Given the description of an element on the screen output the (x, y) to click on. 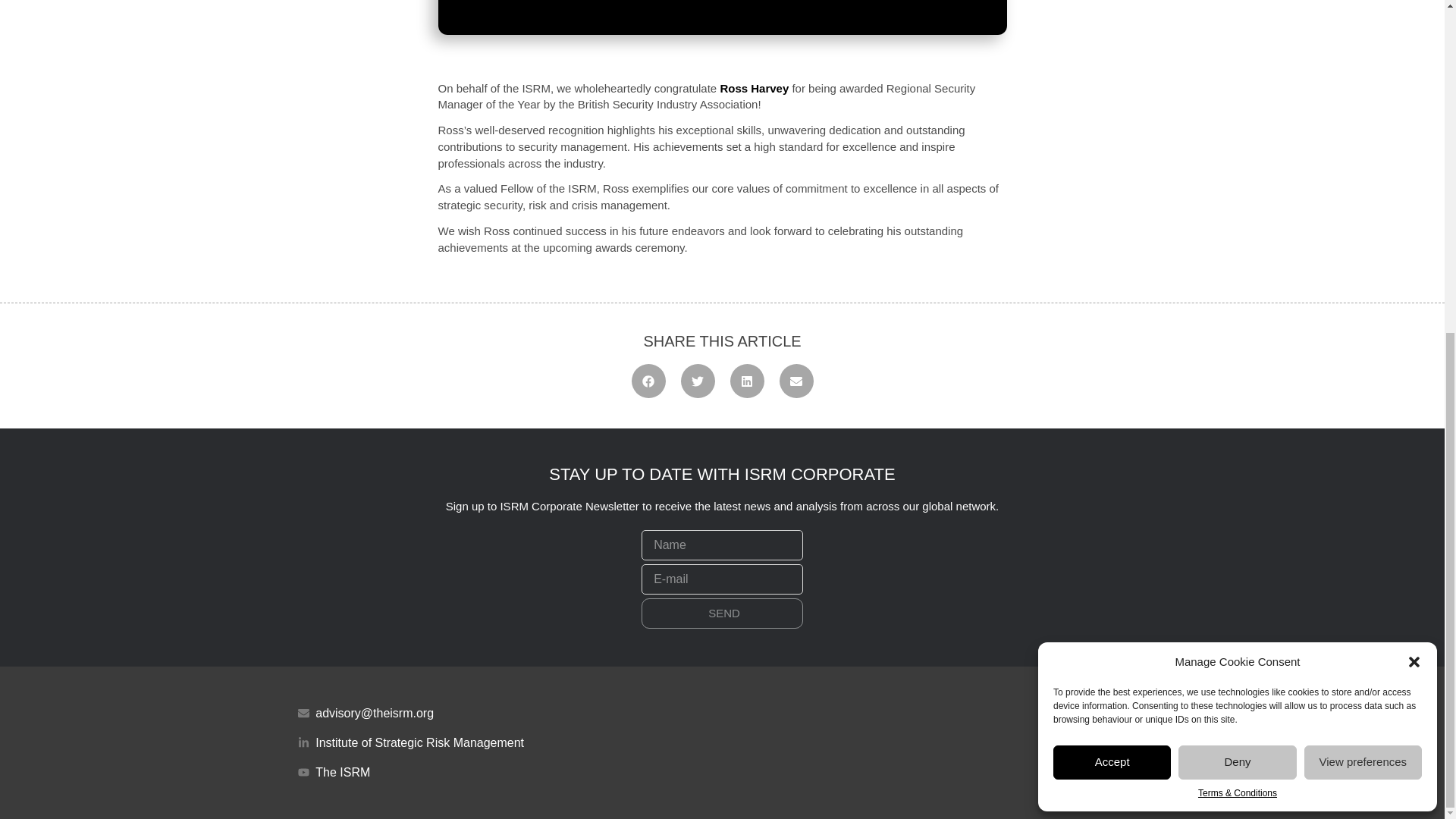
Institute of Strategic Risk Management (505, 742)
SEND (722, 613)
The ISRM (505, 772)
Accept (1111, 207)
Deny (1236, 207)
Ross Harvey (754, 88)
View preferences (1363, 207)
